Given the description of an element on the screen output the (x, y) to click on. 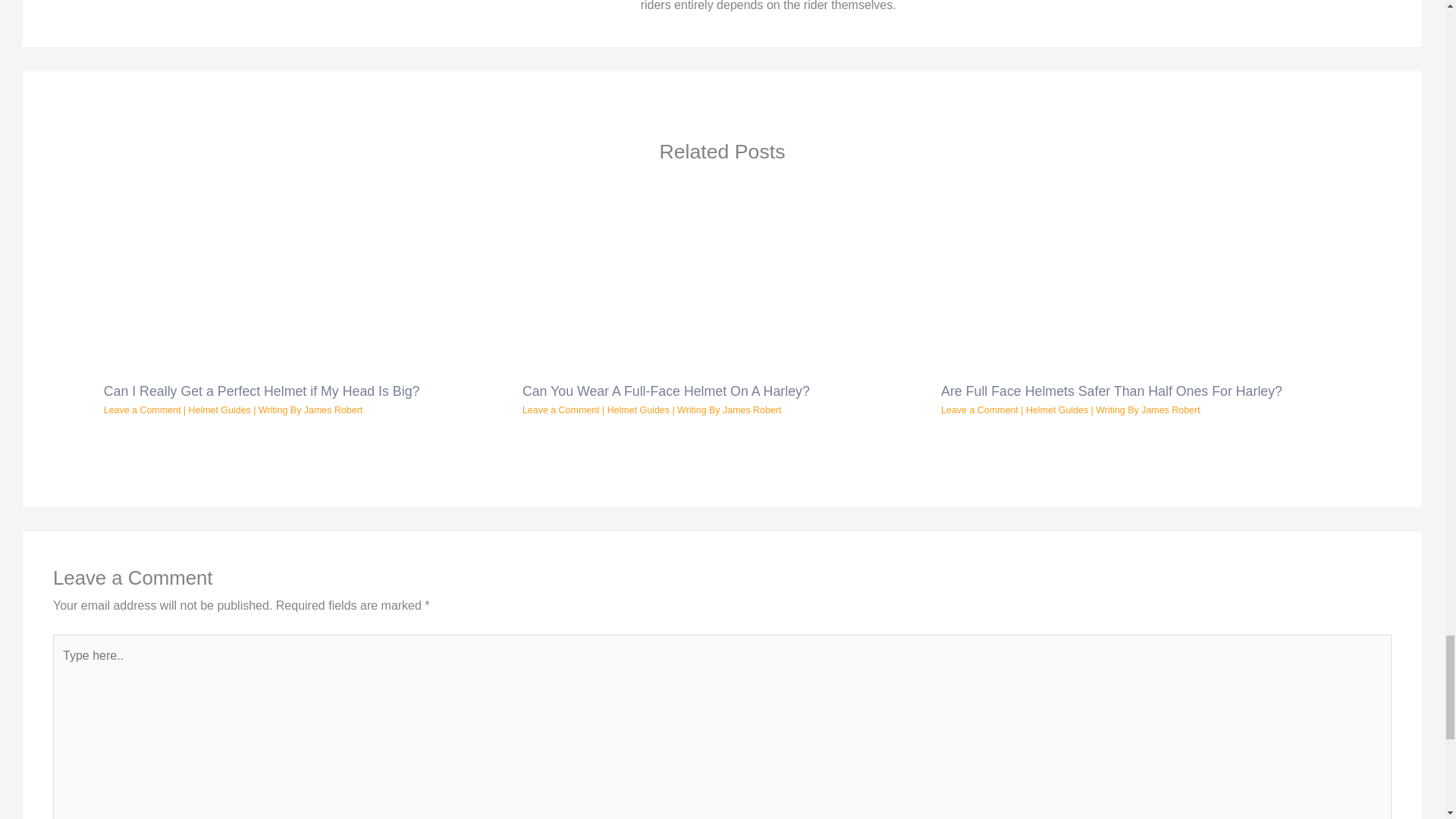
View all posts by James Robert (333, 409)
James Robert (333, 409)
Leave a Comment (141, 409)
Helmet Guides (1056, 409)
View all posts by James Robert (751, 409)
Can I Really Get a Perfect Helmet if My Head Is Big? (261, 391)
Can You Wear A Full-Face Helmet On A Harley? (665, 391)
Leave a Comment (978, 409)
Leave a Comment (560, 409)
Helmet Guides (638, 409)
James Robert (751, 409)
Are Full Face Helmets Safer Than Half Ones For Harley? (1111, 391)
View all posts by James Robert (1170, 409)
Helmet Guides (219, 409)
